Given the description of an element on the screen output the (x, y) to click on. 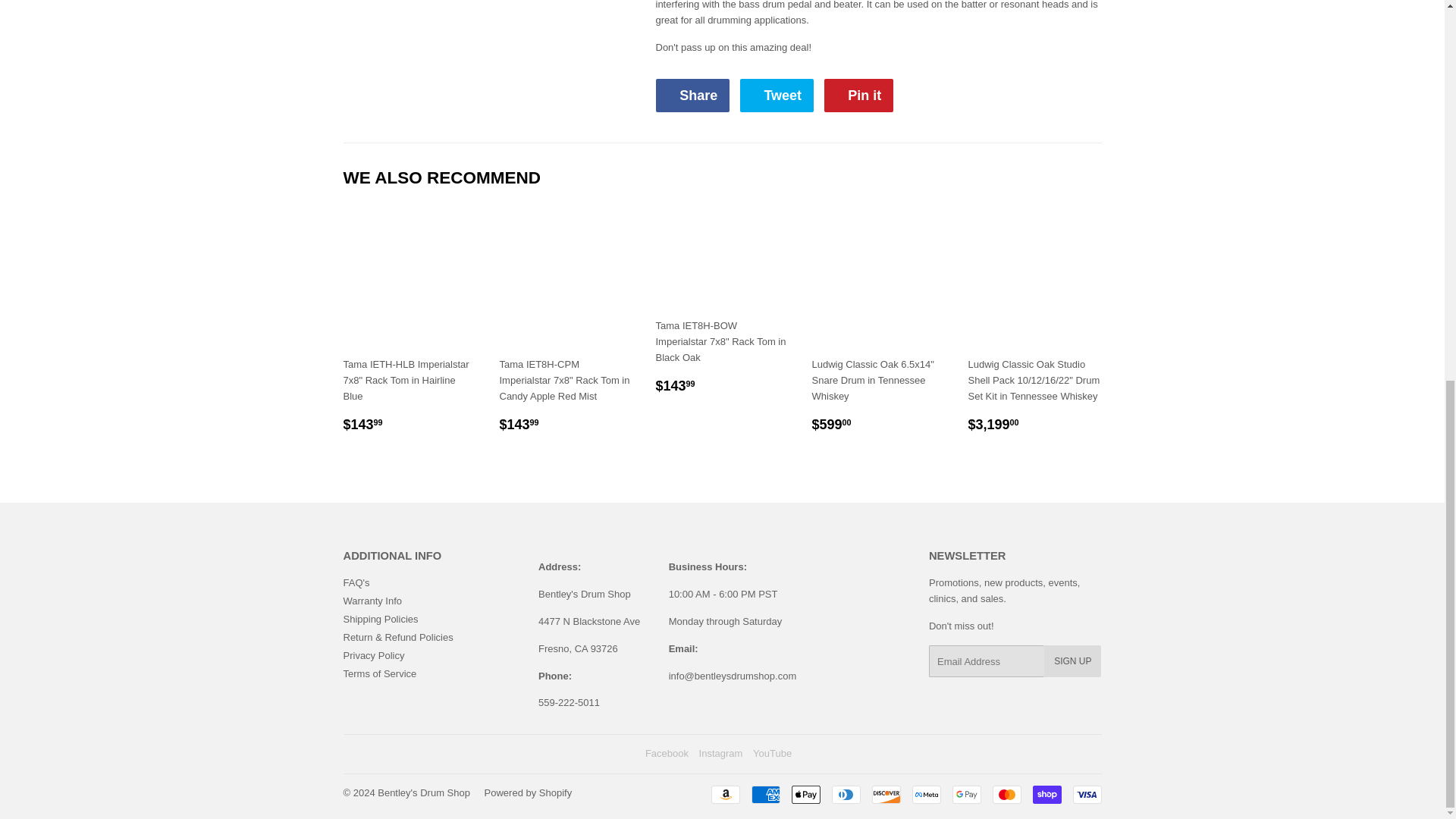
Pin on Pinterest (858, 95)
Diners Club (845, 794)
Discover (886, 794)
Meta Pay (925, 794)
Shop Pay (1046, 794)
Mastercard (1005, 794)
Apple Pay (806, 794)
Amazon (725, 794)
Visa (1085, 794)
tel:5592225011 (568, 702)
American Express (764, 794)
Share on Facebook (692, 95)
Tweet on Twitter (776, 95)
Google Pay (966, 794)
